Given the description of an element on the screen output the (x, y) to click on. 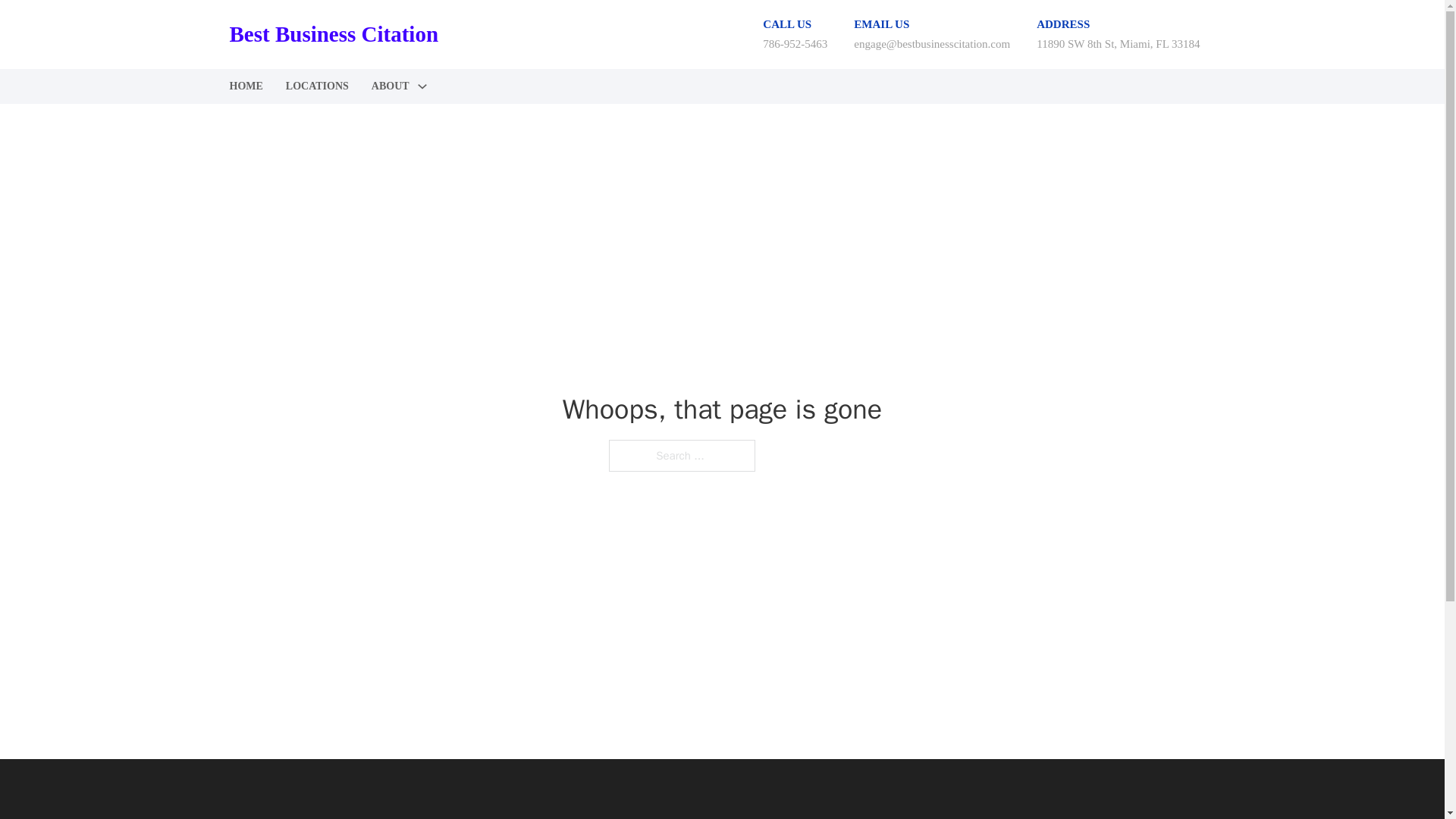
LOCATIONS (317, 85)
HOME (245, 85)
Best Business Citation (333, 34)
786-952-5463 (794, 43)
